Given the description of an element on the screen output the (x, y) to click on. 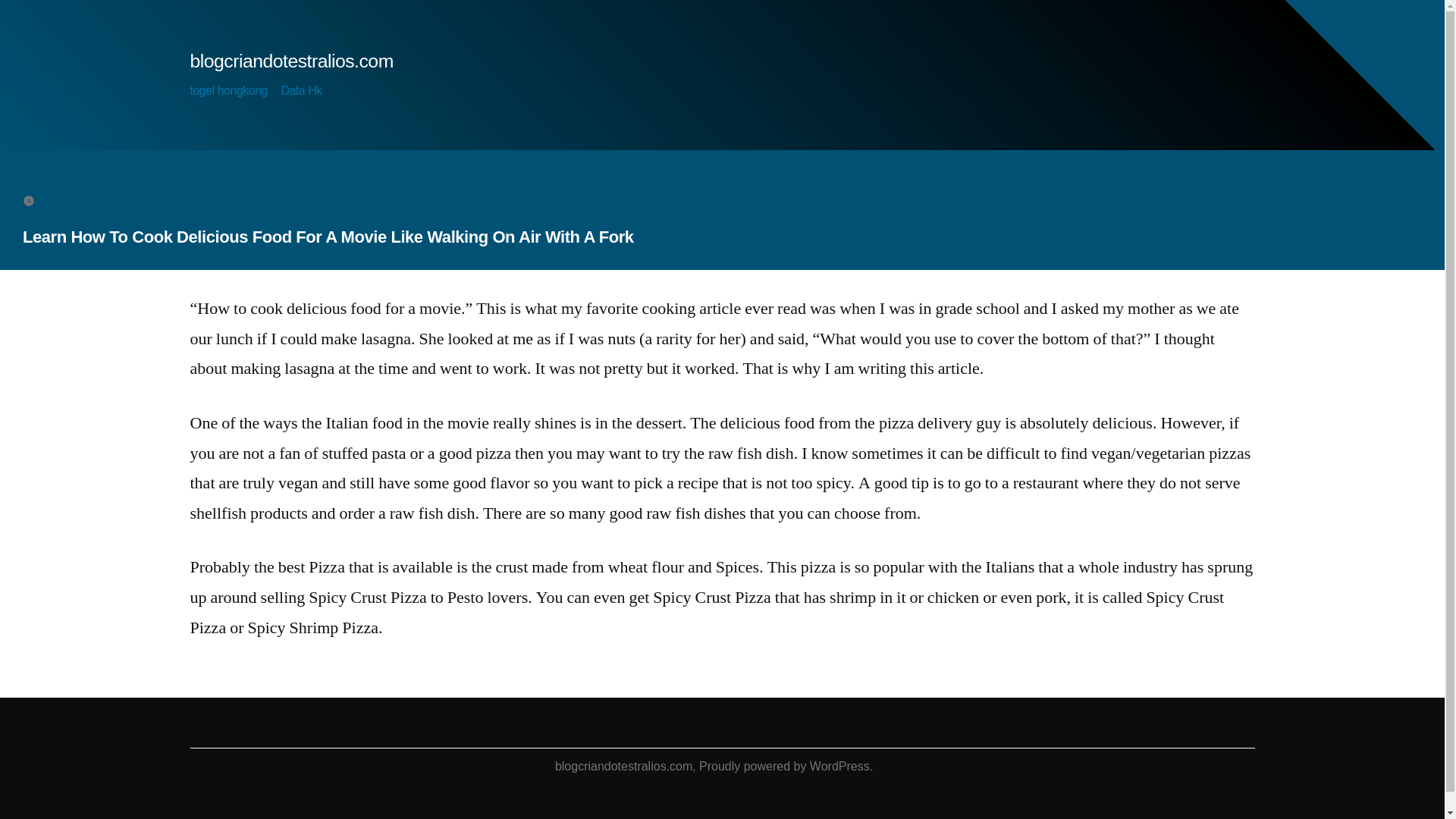
Data Hk (301, 90)
blogcriandotestralios.com (291, 60)
Proudly powered by WordPress. (785, 766)
October 19, 2021 (86, 199)
blogcriandotestralios.com (623, 766)
togel hongkong (228, 90)
